Given the description of an element on the screen output the (x, y) to click on. 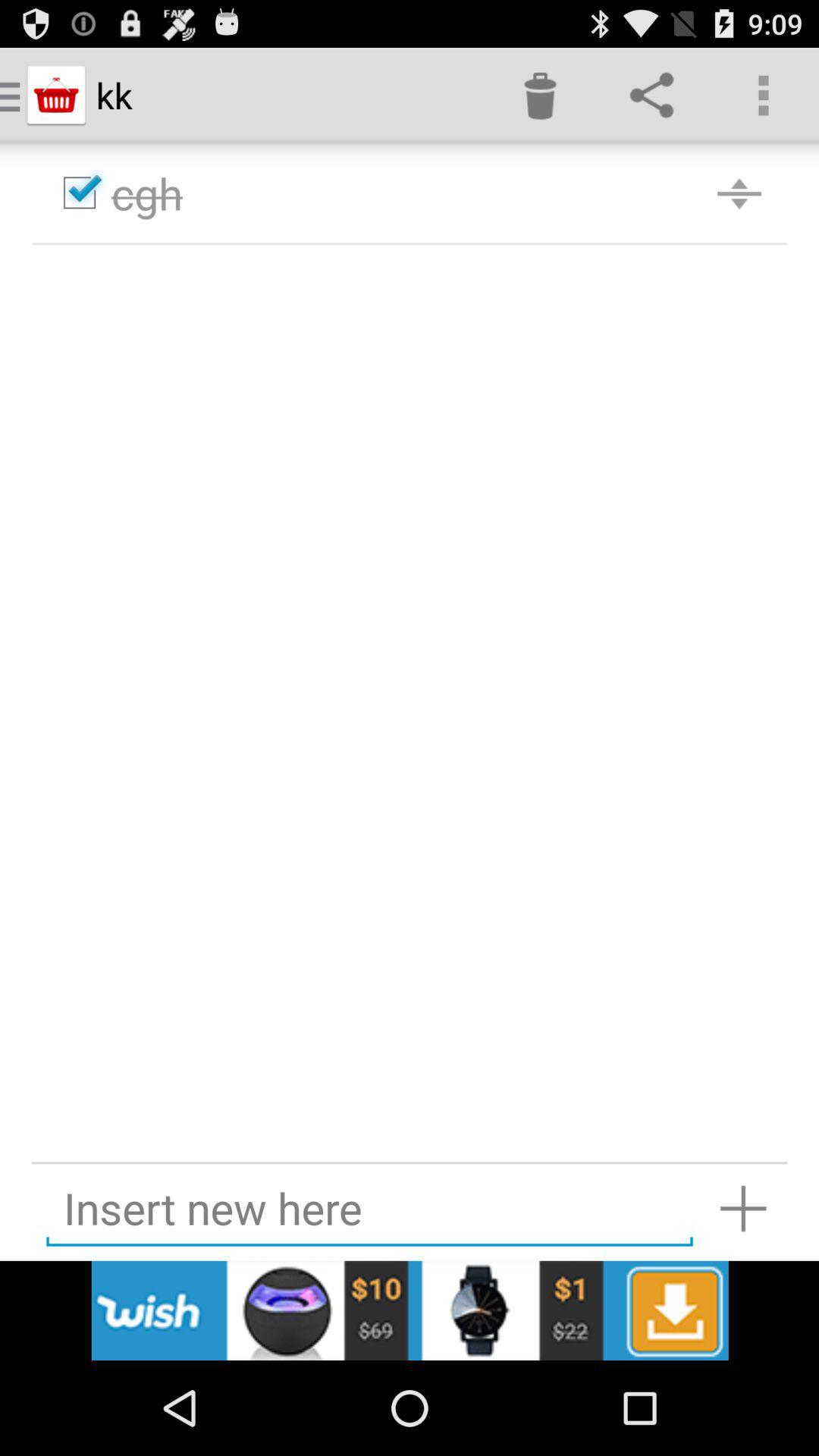
enter text (369, 1208)
